Given the description of an element on the screen output the (x, y) to click on. 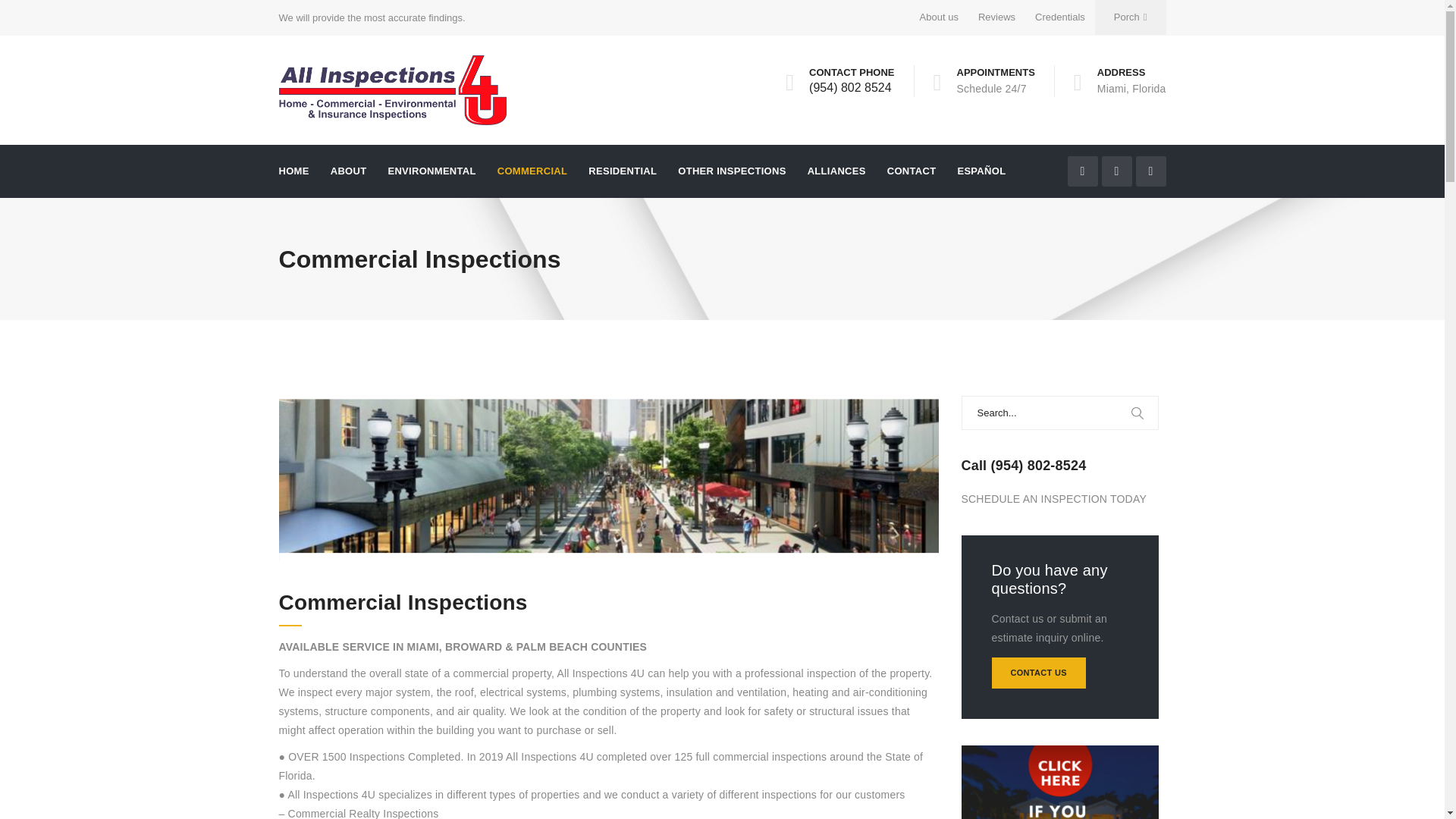
RESIDENTIAL (622, 171)
Credentials (1059, 17)
ENVIRONMENTAL (431, 171)
COMMERCIAL (532, 171)
About us (939, 17)
Reviews (996, 17)
Porch (1130, 17)
